Given the description of an element on the screen output the (x, y) to click on. 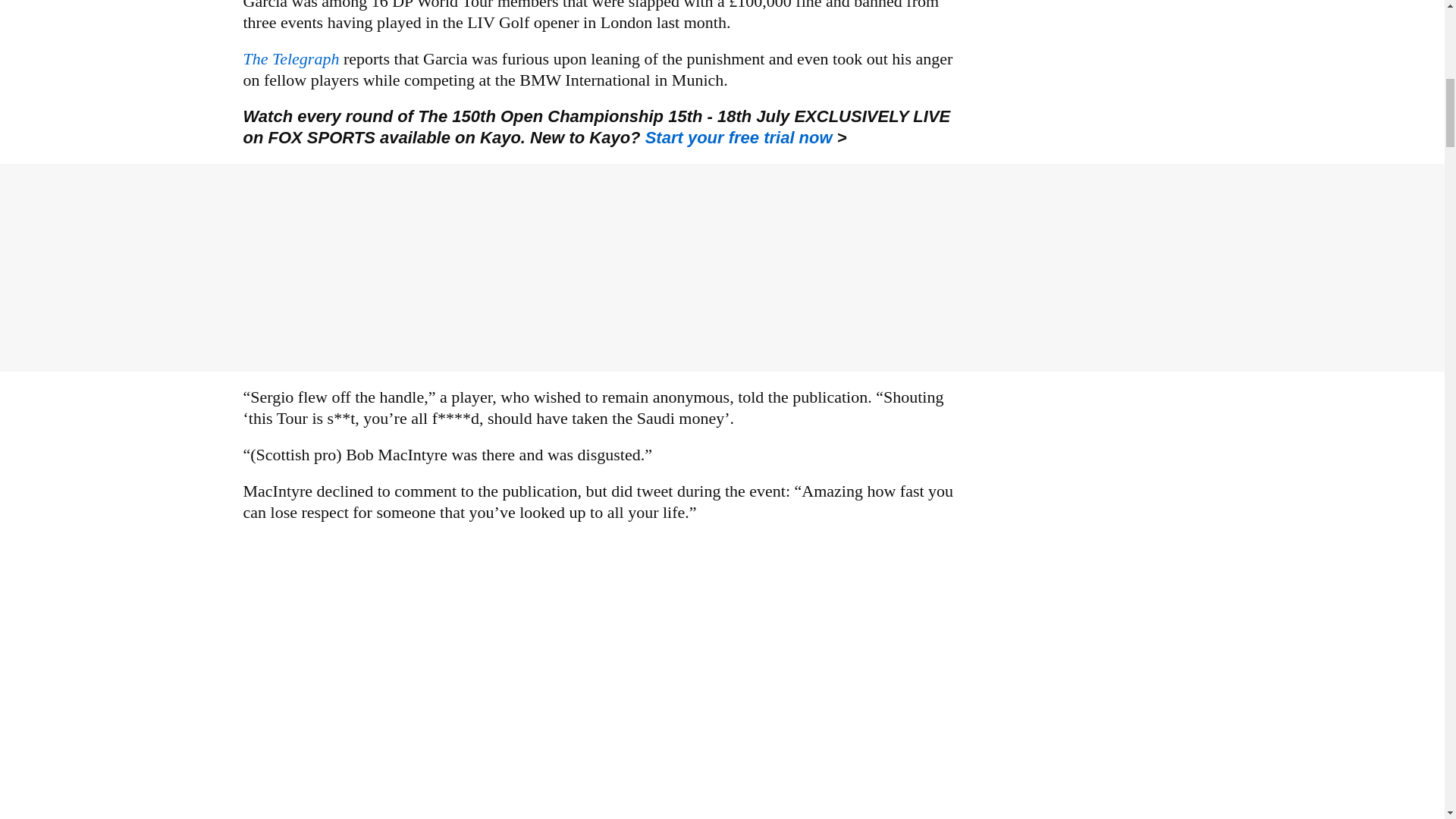
The Telegraph (291, 58)
Start your free trial now (741, 137)
